Given the description of an element on the screen output the (x, y) to click on. 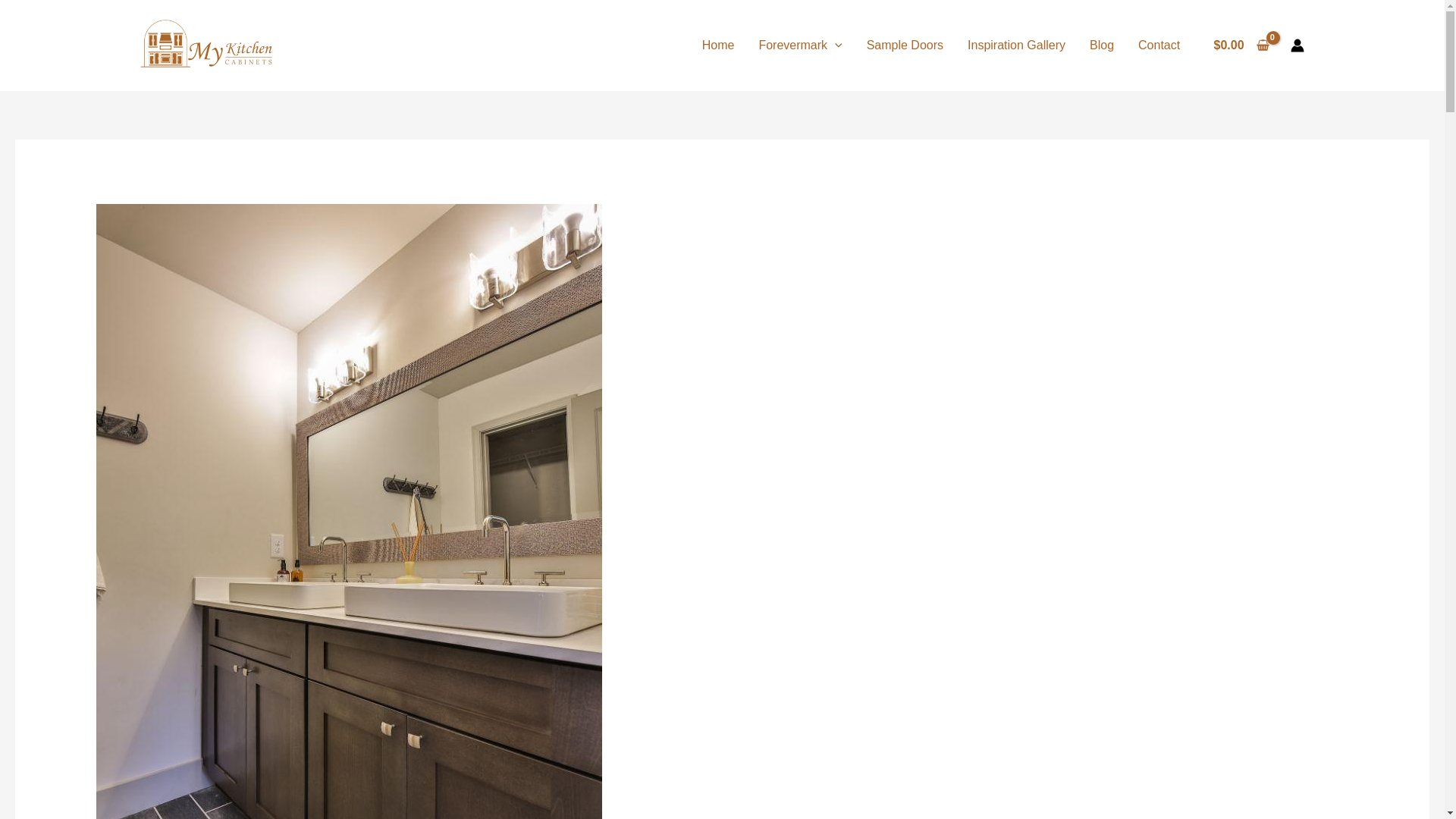
Sample Doors (904, 45)
Inspiration Gallery (1016, 45)
Contact (1158, 45)
Blog (1101, 45)
Home (718, 45)
Forevermark (799, 45)
